Given the description of an element on the screen output the (x, y) to click on. 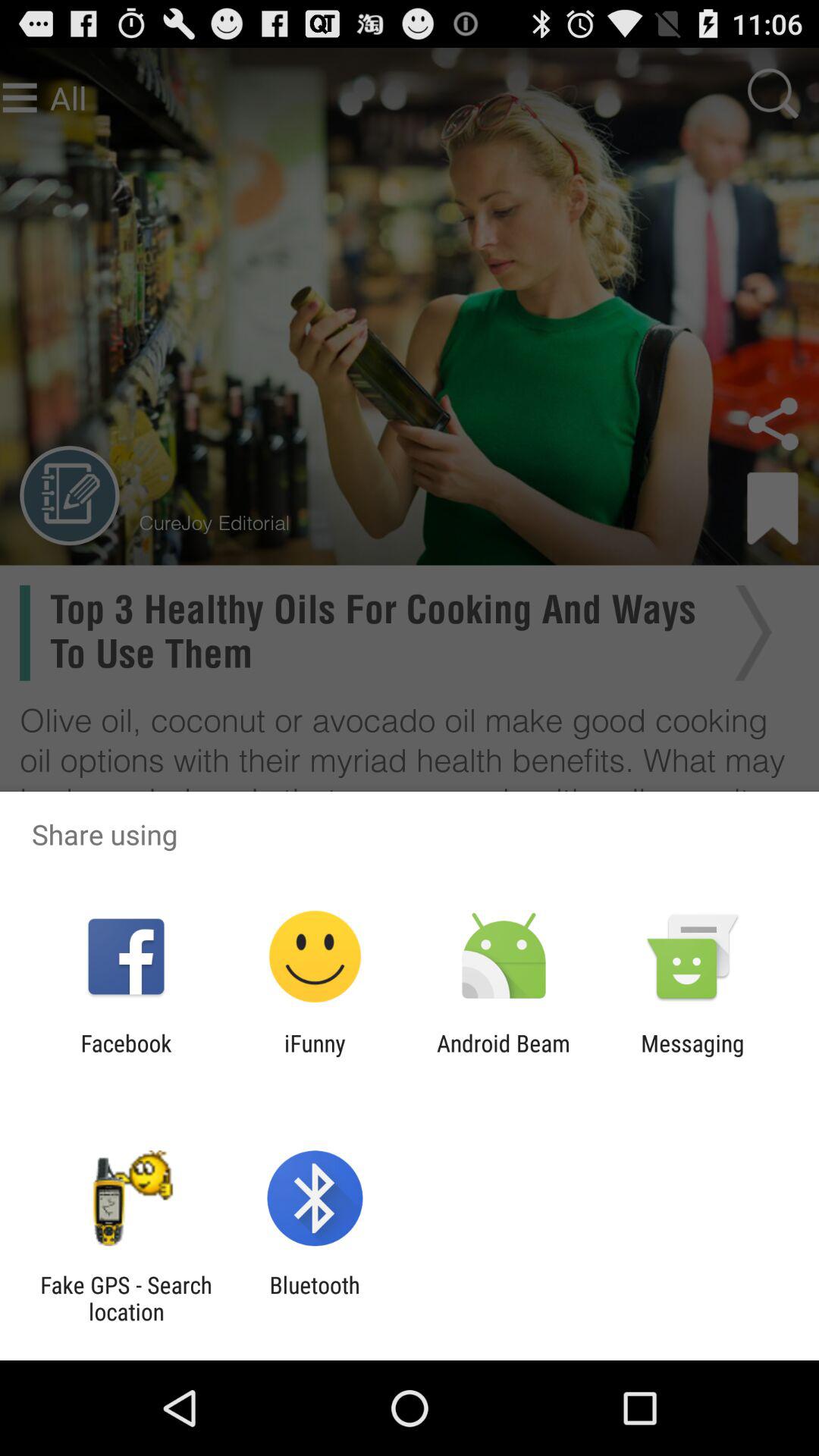
click messaging (692, 1056)
